Given the description of an element on the screen output the (x, y) to click on. 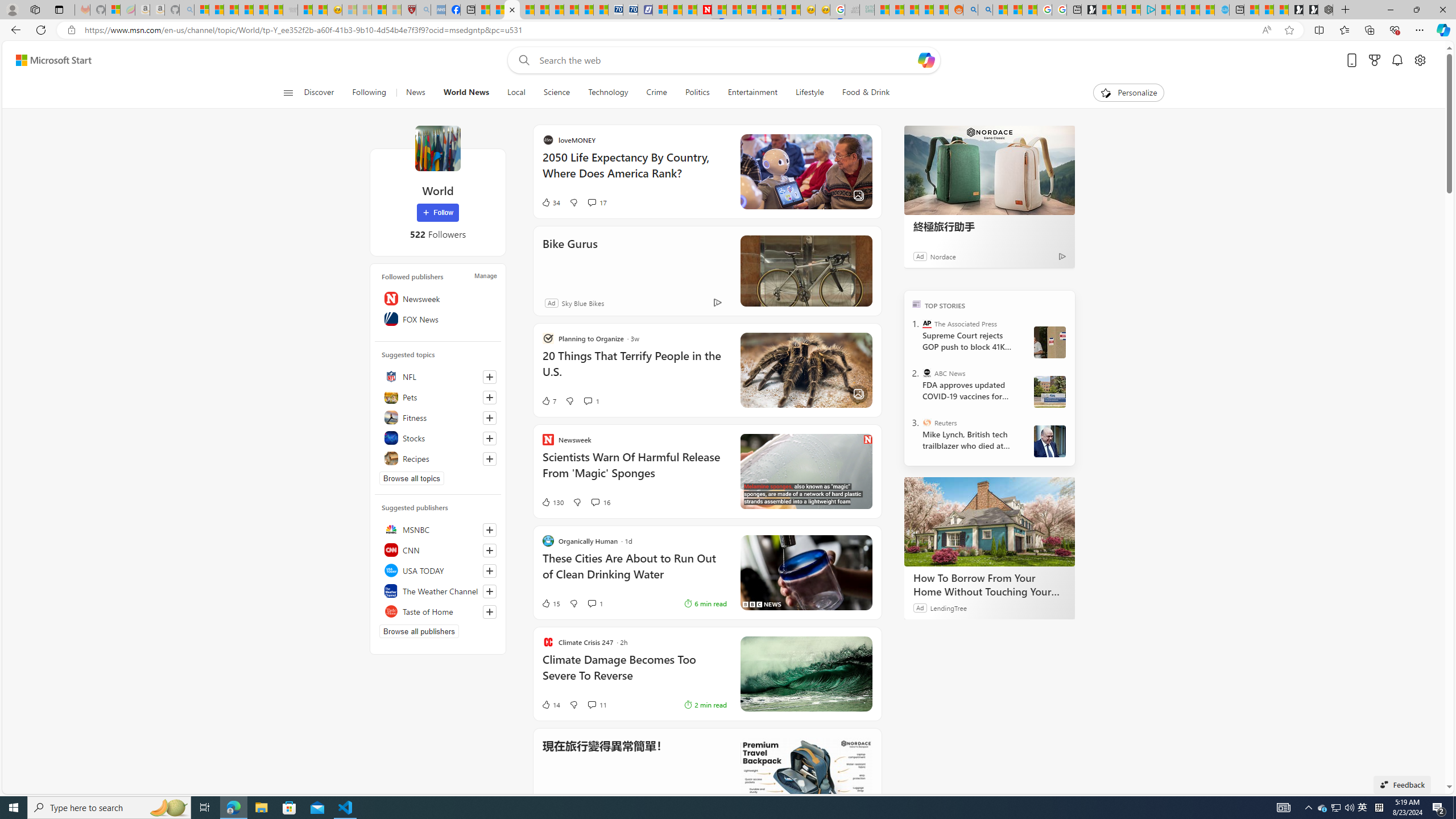
12 Popular Science Lies that Must be Corrected - Sleeping (393, 9)
